Given the description of an element on the screen output the (x, y) to click on. 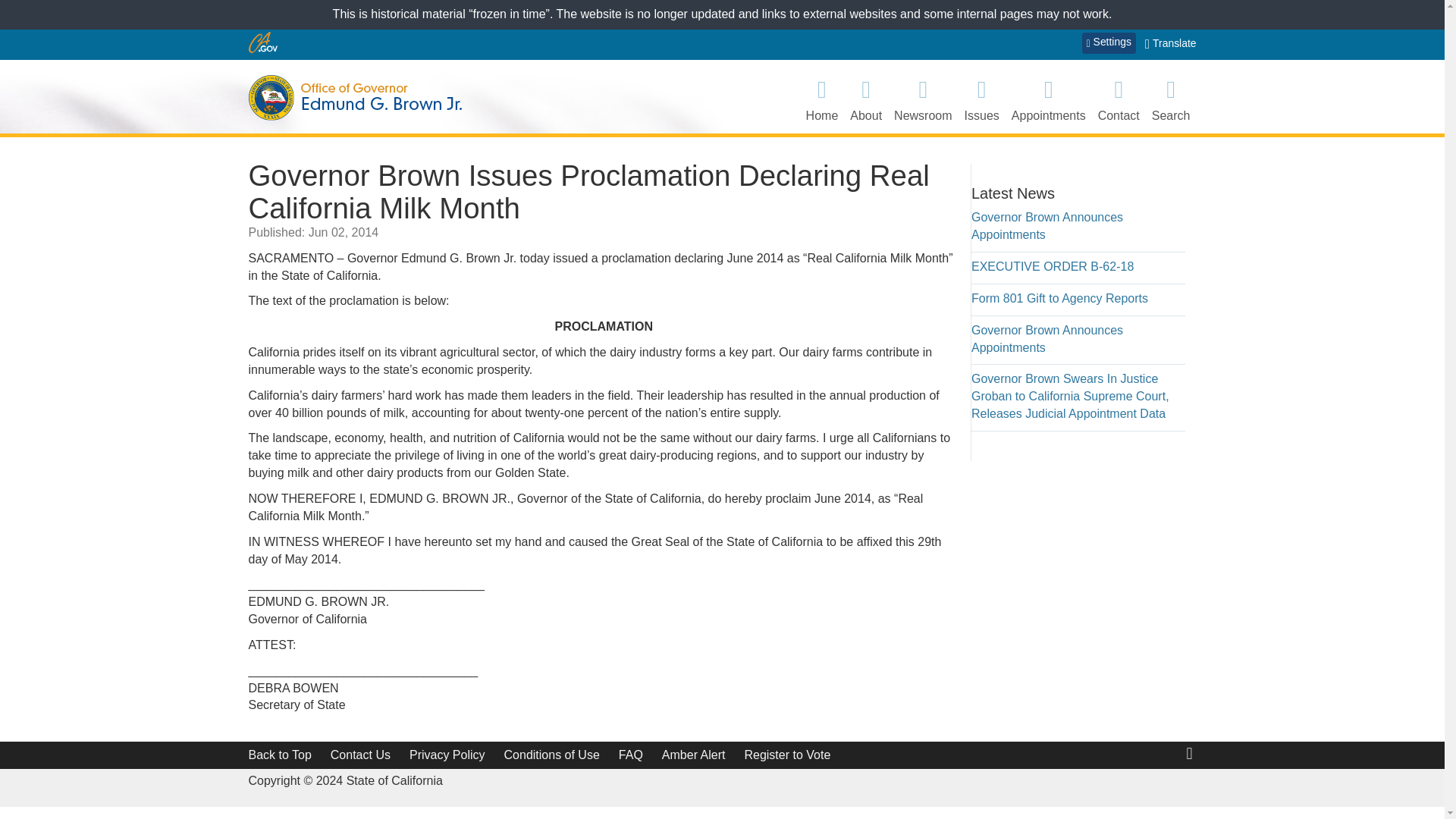
Settings (1108, 43)
Translate (1170, 44)
Appointments (1048, 98)
EXECUTIVE ORDER B-62-18 (1052, 266)
Governor Brown Announces Appointments (1046, 338)
Governor Brown Announces Appointments (1046, 225)
Form 801 Gift to Agency Reports (1059, 297)
CA.gov (263, 43)
